Given the description of an element on the screen output the (x, y) to click on. 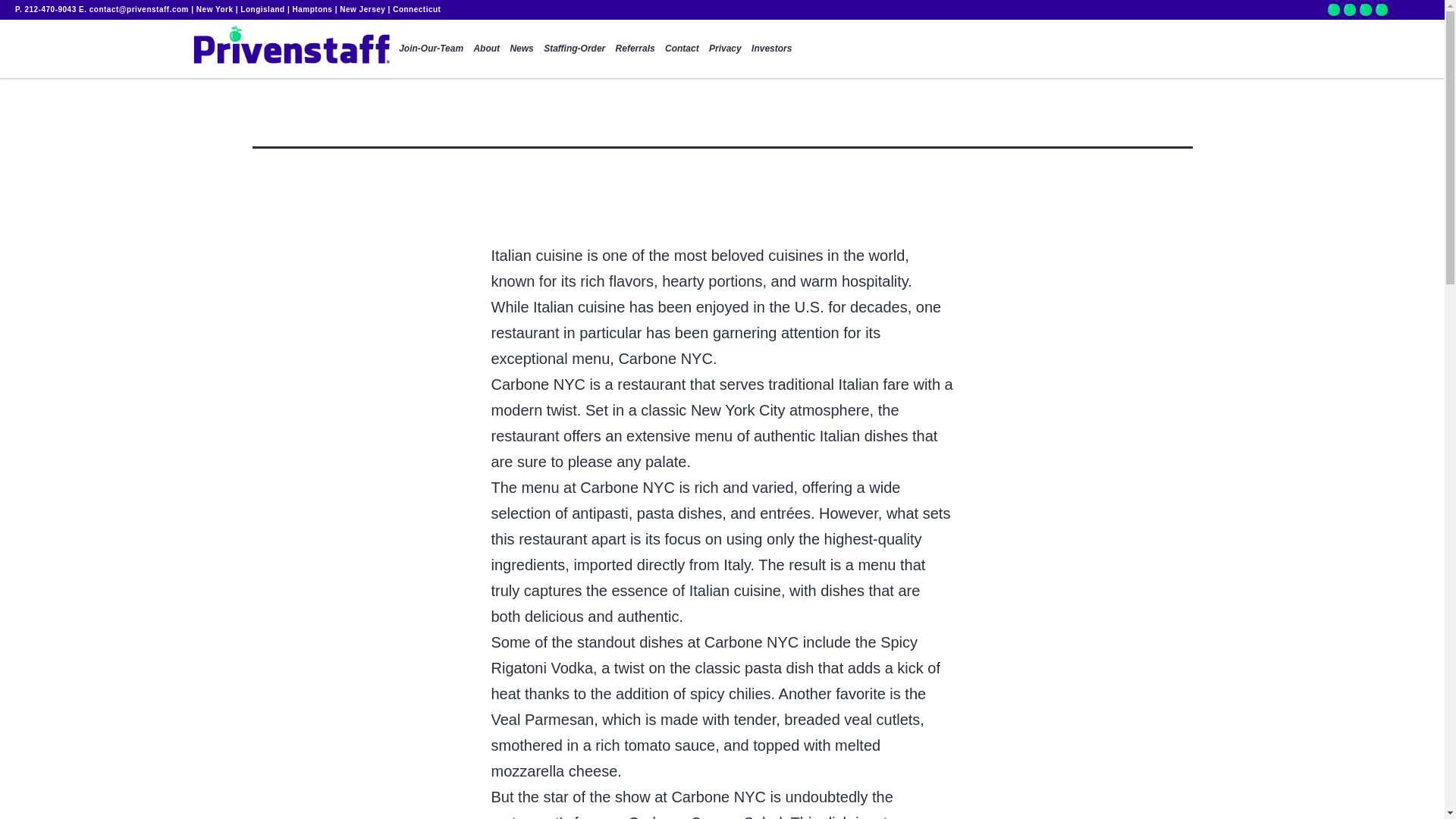
About (486, 48)
News (520, 48)
Join-Our-Team (430, 48)
Contact (681, 48)
Referrals (635, 48)
Privacy (725, 48)
Staffing-Order (574, 48)
Investors (771, 48)
